Given the description of an element on the screen output the (x, y) to click on. 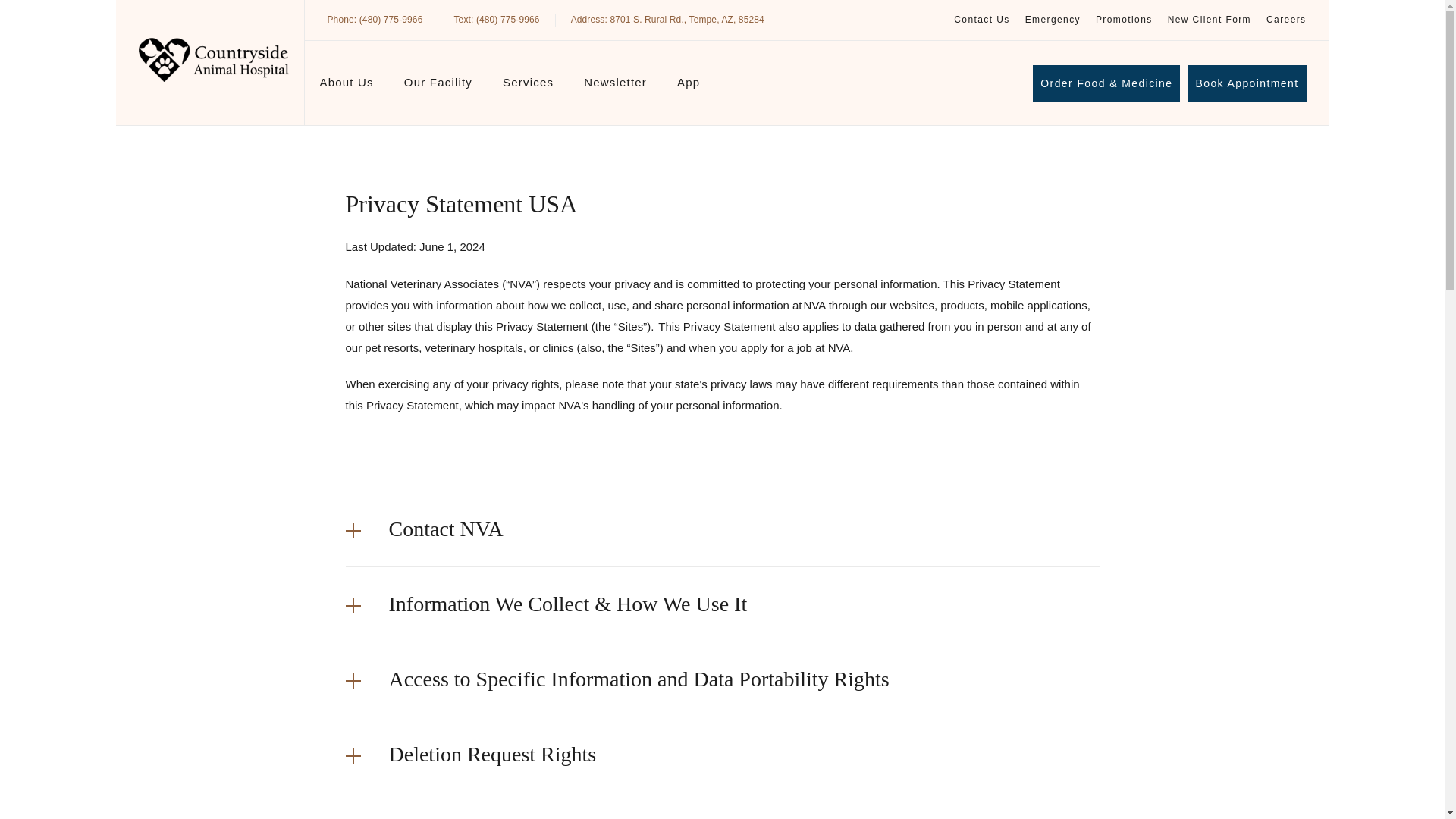
App (688, 86)
Book Appointment (1247, 83)
Newsletter (614, 86)
Logo (213, 59)
Emergency (1052, 19)
Promotions (1124, 19)
Address: 8701 S. Rural Rd., Tempe, AZ, 85284 (667, 19)
Services (527, 86)
Careers (1286, 19)
About Us (347, 86)
New Client Form (667, 19)
Emergency (1208, 19)
About Us (1052, 19)
Our Facility (347, 86)
